Given the description of an element on the screen output the (x, y) to click on. 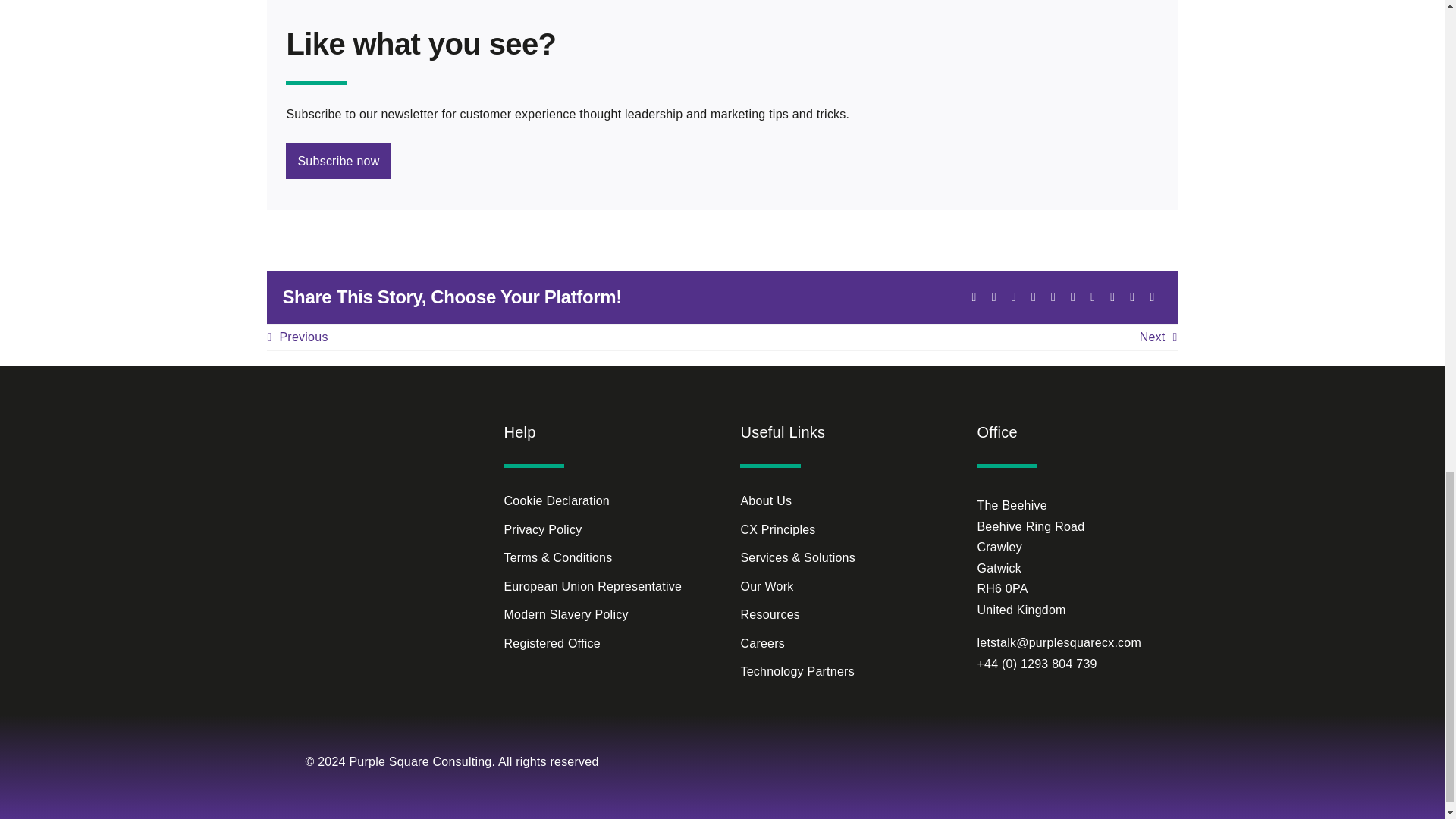
Telegram (1052, 296)
Tumblr (1072, 296)
Subscribe now (721, 160)
Reddit (994, 296)
WhatsApp (1033, 296)
X (973, 296)
Pinterest (1092, 296)
LinkedIn (1013, 296)
Vk (1112, 296)
Email (1151, 296)
